Given the description of an element on the screen output the (x, y) to click on. 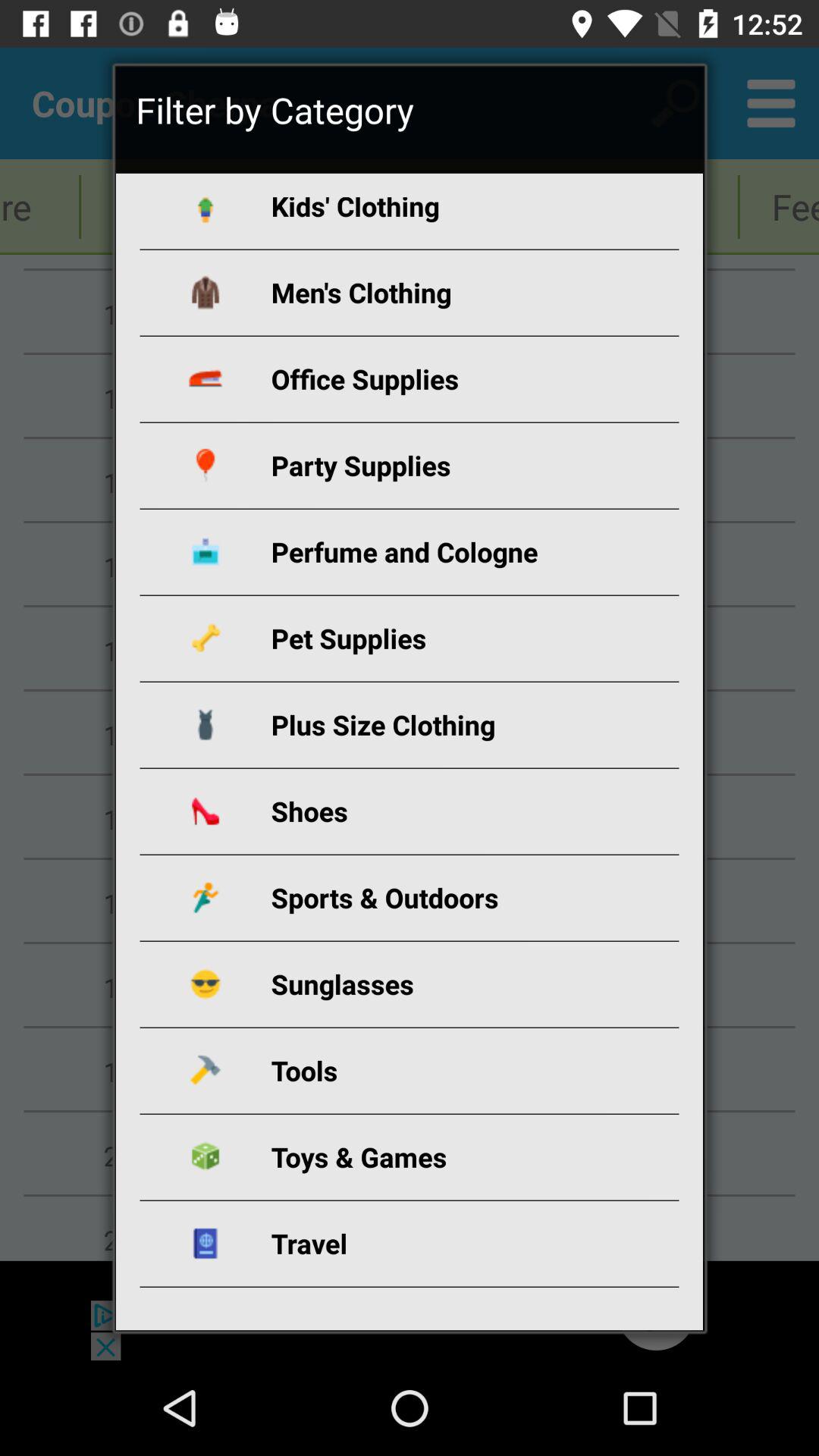
launch icon below sports & outdoors app (427, 983)
